Given the description of an element on the screen output the (x, y) to click on. 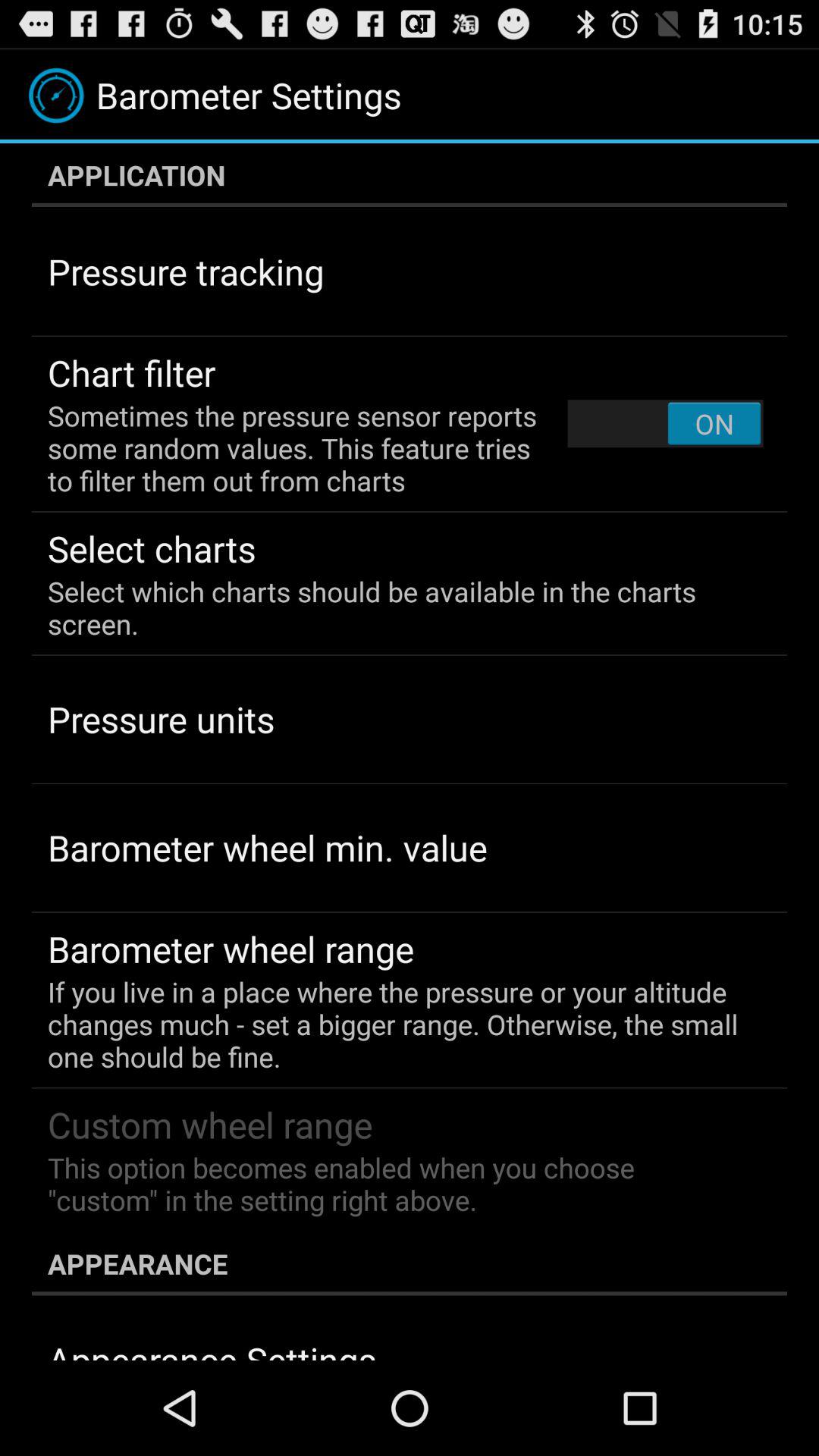
tap the item below the application app (665, 423)
